Given the description of an element on the screen output the (x, y) to click on. 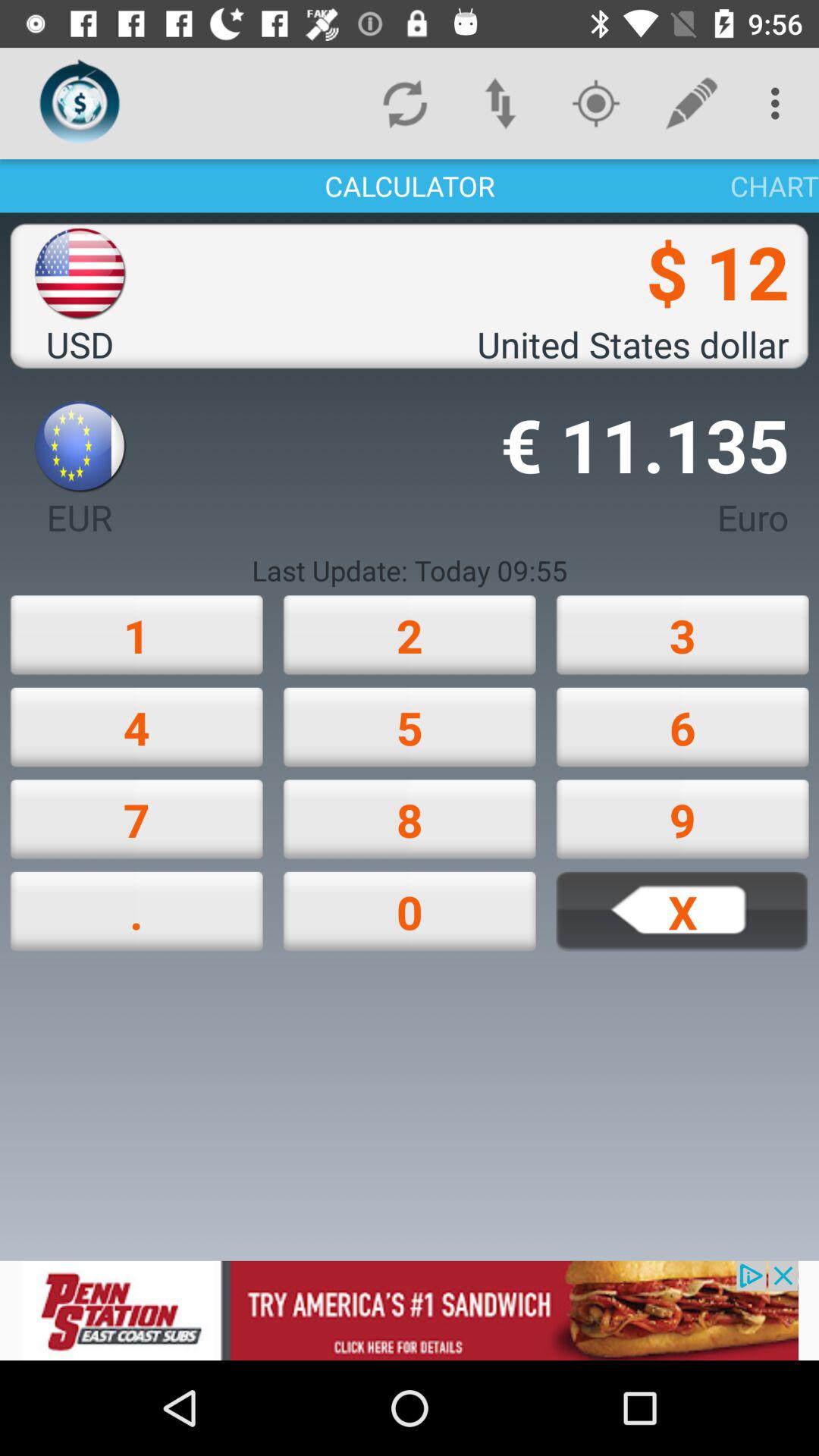
go to advertisement website (409, 1310)
